Given the description of an element on the screen output the (x, y) to click on. 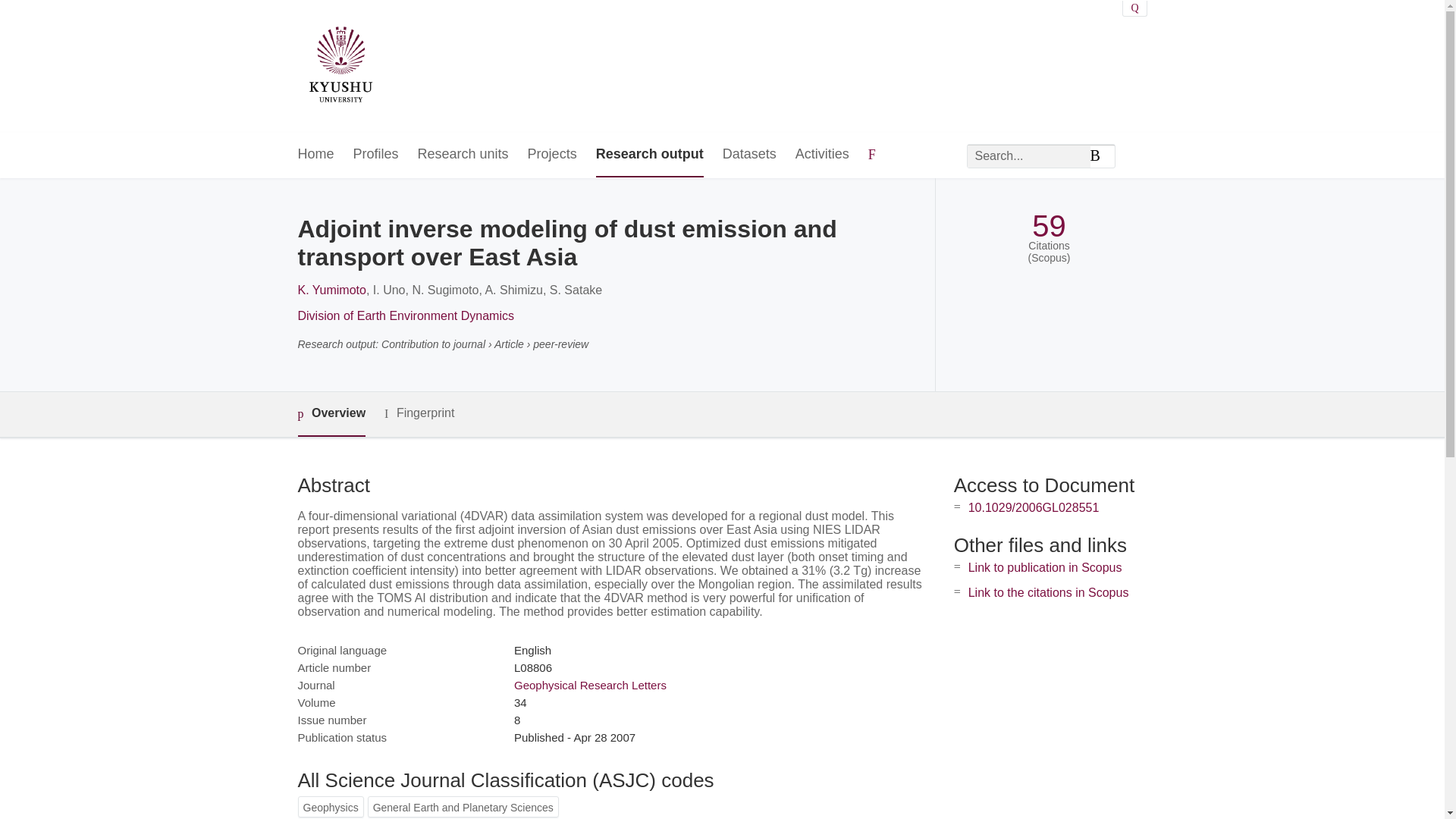
Geophysical Research Letters (589, 684)
Home (315, 154)
K. Yumimoto (331, 289)
Link to publication in Scopus (1045, 567)
Overview (331, 414)
Fingerprint (419, 413)
59 (1048, 225)
Profiles (375, 154)
Research output (649, 154)
Division of Earth Environment Dynamics (405, 315)
Projects (551, 154)
Activities (821, 154)
Datasets (749, 154)
Kyushu University Home (340, 66)
